Given the description of an element on the screen output the (x, y) to click on. 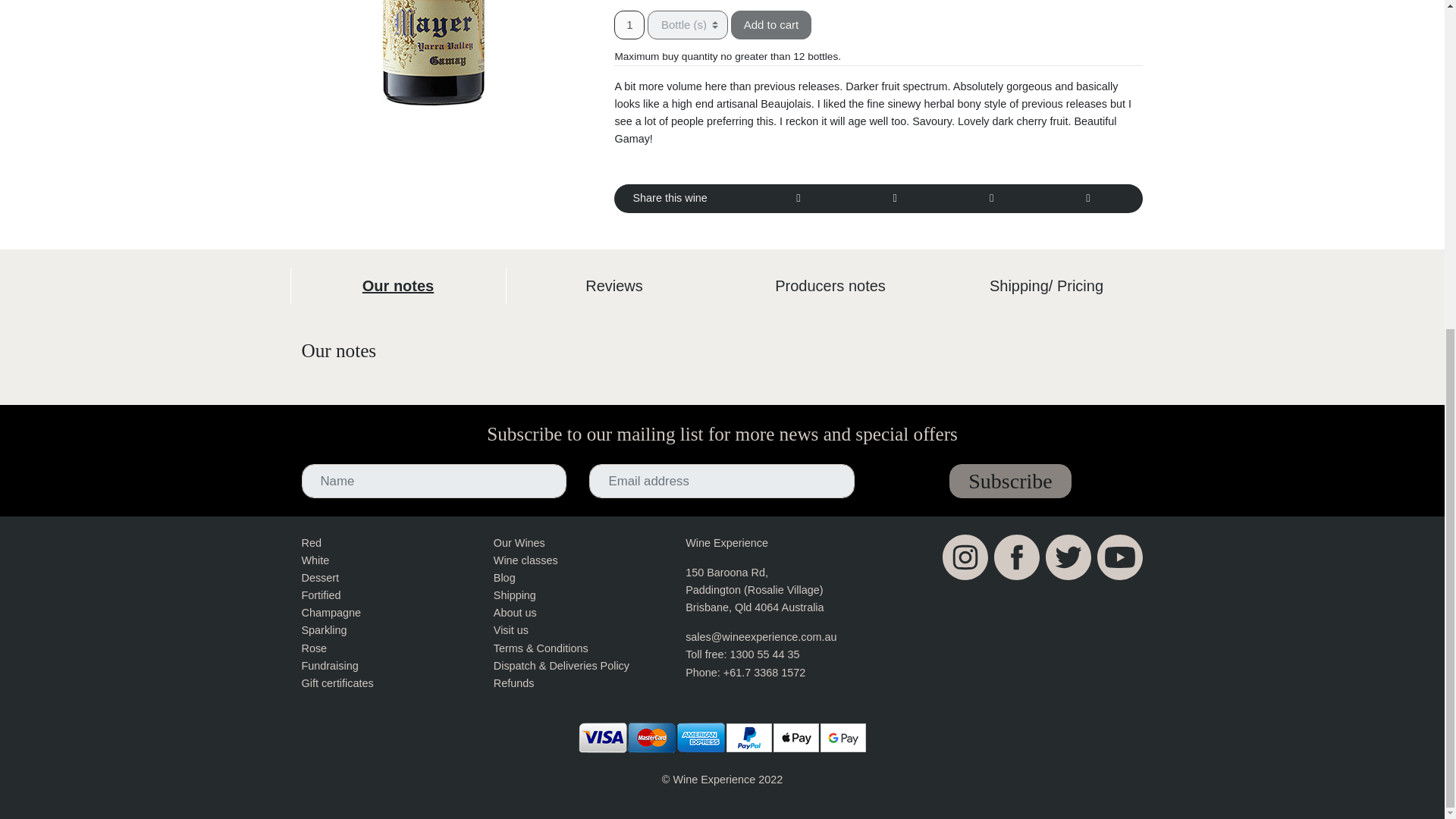
1 (629, 24)
Payment Options (722, 737)
Subscribe (1009, 480)
Add to cart (771, 24)
